Given the description of an element on the screen output the (x, y) to click on. 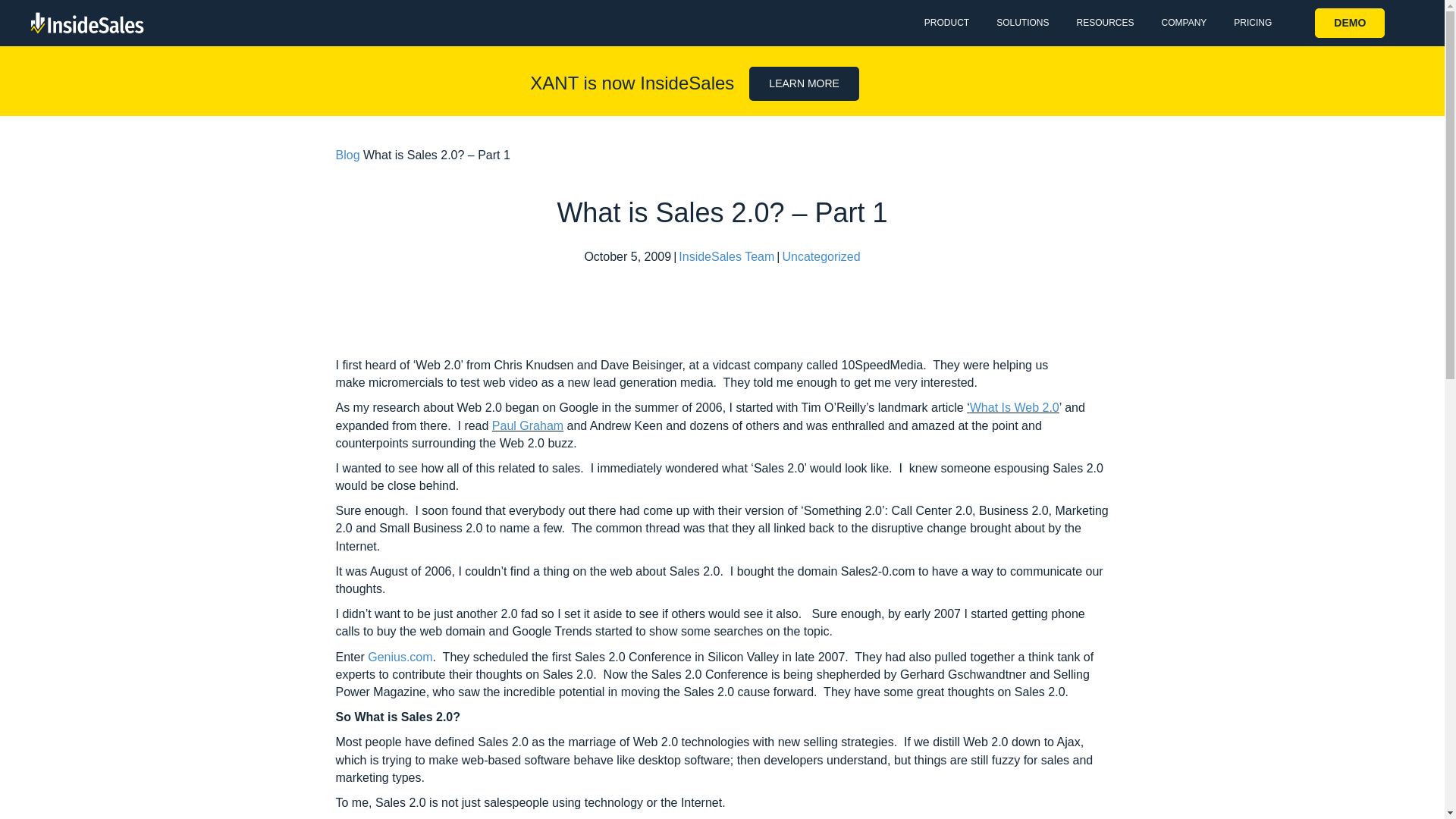
SOLUTIONS (1021, 22)
PRODUCT (946, 22)
RESOURCES (1104, 22)
